Given the description of an element on the screen output the (x, y) to click on. 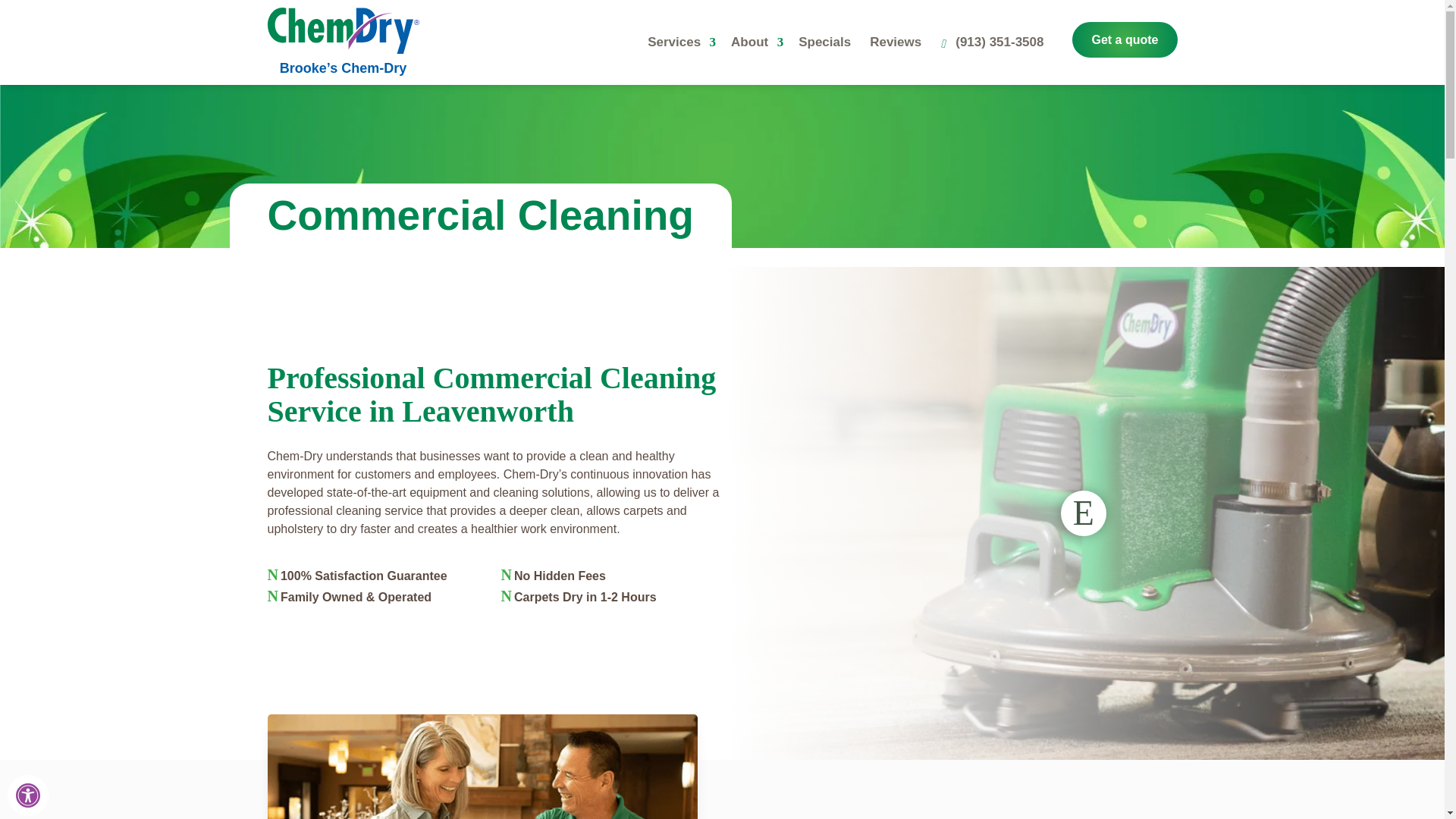
chem-dry-commercial-cleaning-2-1 (481, 766)
play-icon (1083, 513)
Accessibility Tools (28, 794)
Accessibility Tools (27, 794)
Accessibility Tools (27, 794)
Get a quote (1123, 39)
